Given the description of an element on the screen output the (x, y) to click on. 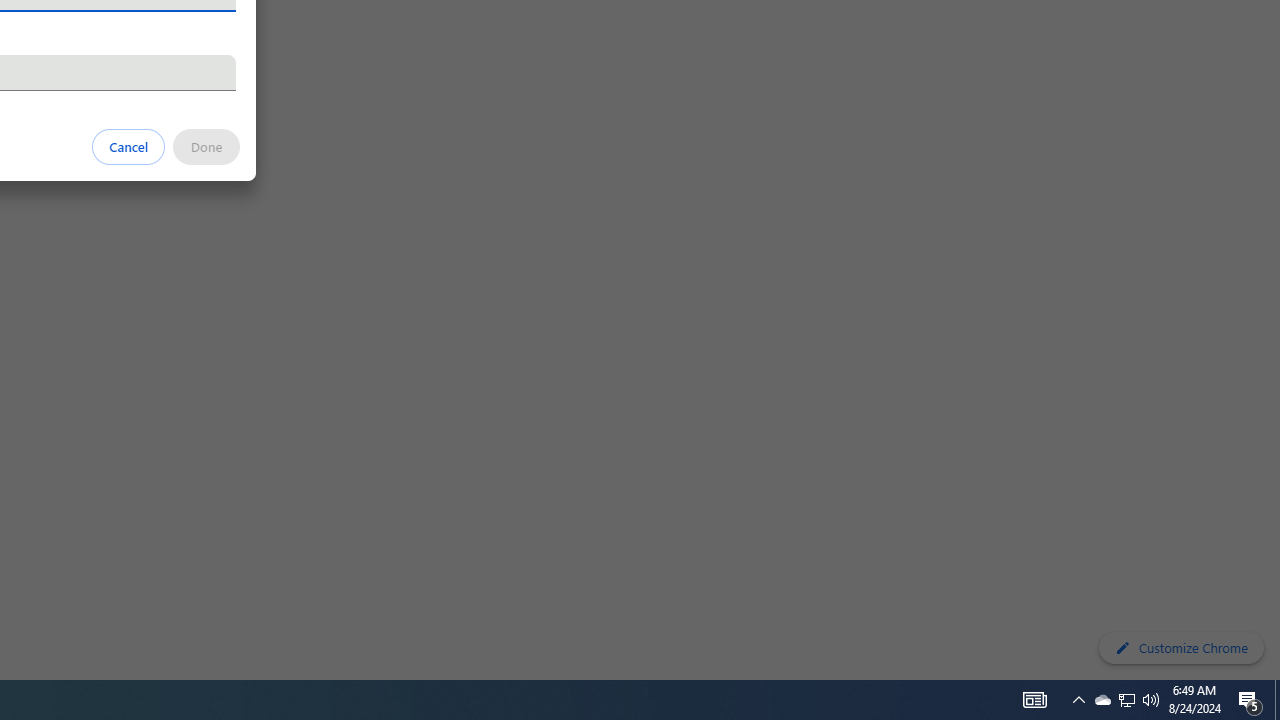
Cancel (129, 146)
Done (206, 146)
